Given the description of an element on the screen output the (x, y) to click on. 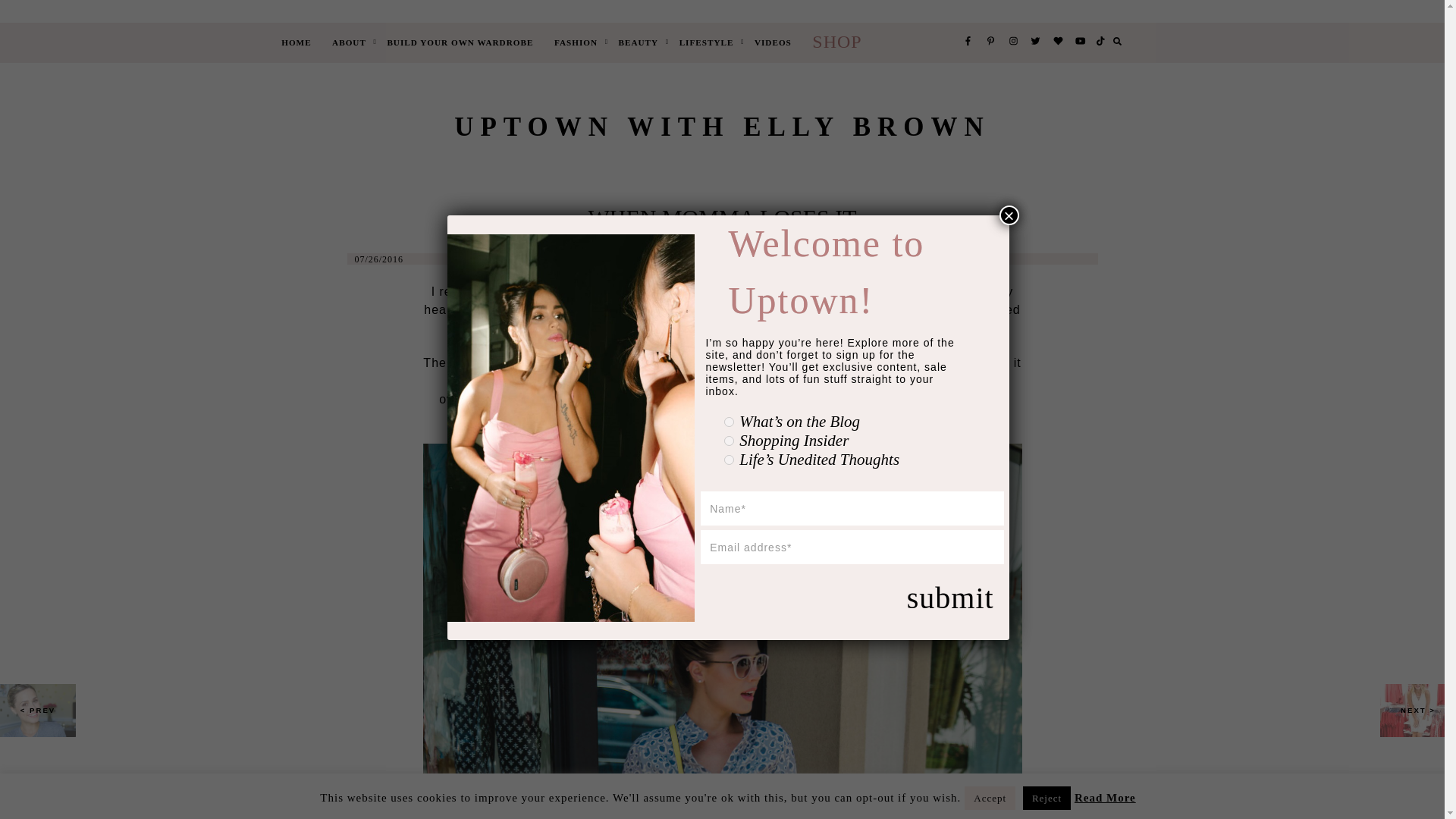
shopping (728, 440)
rss (728, 421)
Submit (852, 598)
faith (728, 460)
